Given the description of an element on the screen output the (x, y) to click on. 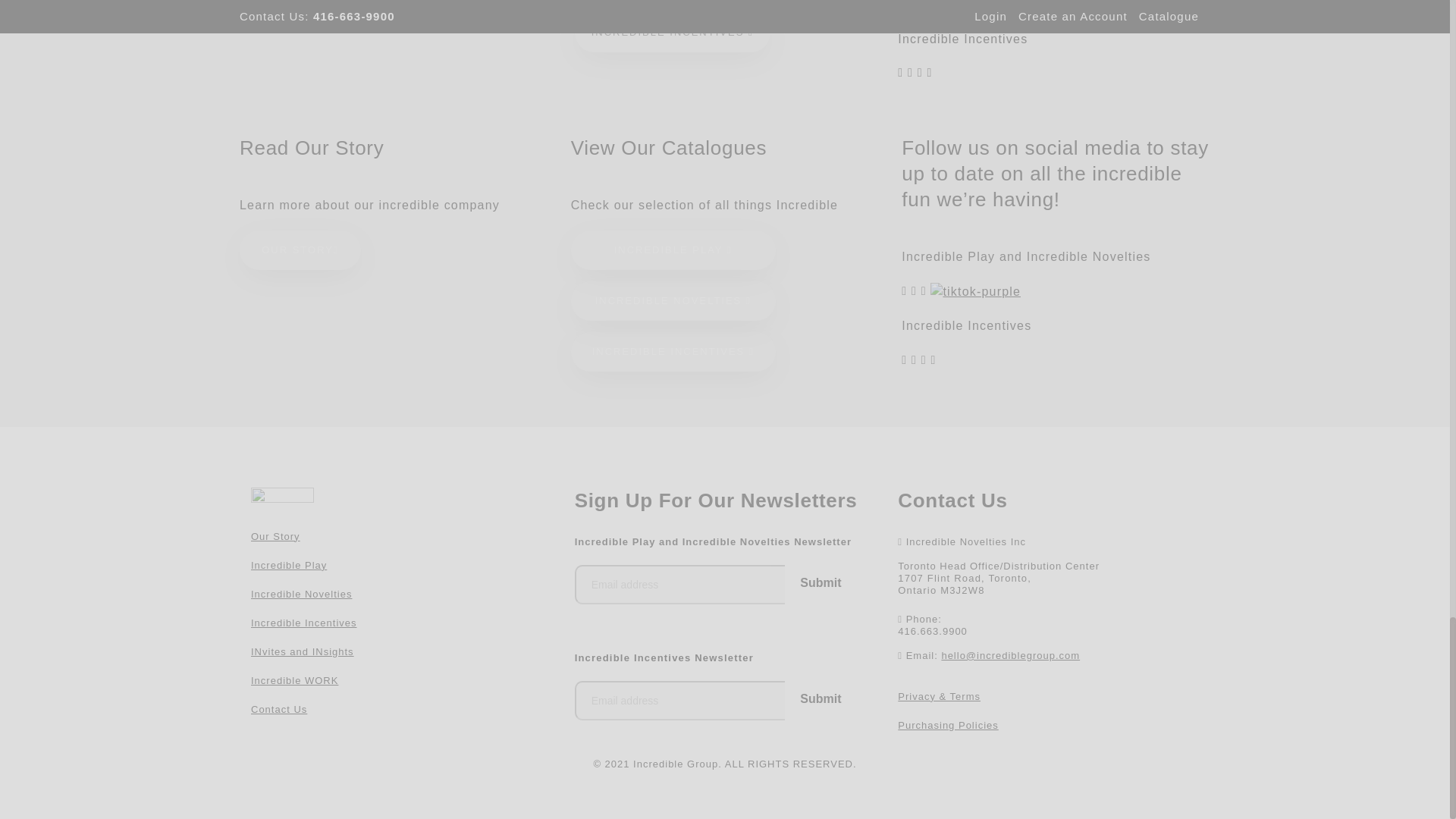
INCREDIBLE NOVELTIES (673, 301)
INCREDIBLE INCENTIVES (672, 32)
OUR STORY (300, 250)
Incredible Play (288, 564)
Submit (820, 583)
Our Story (274, 536)
Submit (820, 698)
INCREDIBLE INCENTIVES (673, 351)
INCREDIBLE PLAY (673, 250)
